Given the description of an element on the screen output the (x, y) to click on. 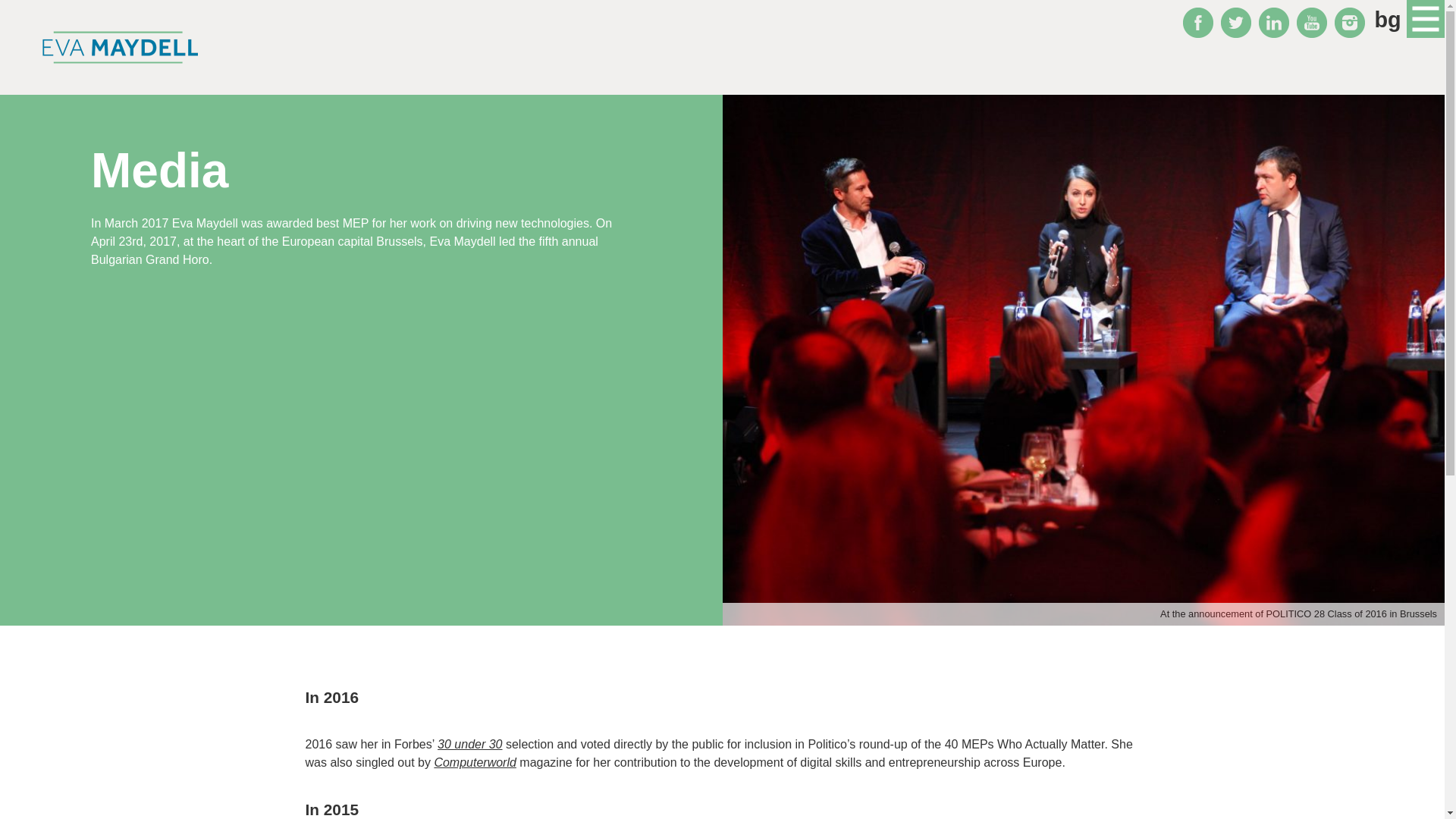
Instagram (1350, 22)
YouTube (1311, 22)
Facebook (1197, 22)
30 under 30 (470, 744)
Twitter (1235, 22)
Eva Maydell (120, 47)
Computerworld (474, 762)
LinkedIn (1273, 22)
bg (1388, 20)
